Given the description of an element on the screen output the (x, y) to click on. 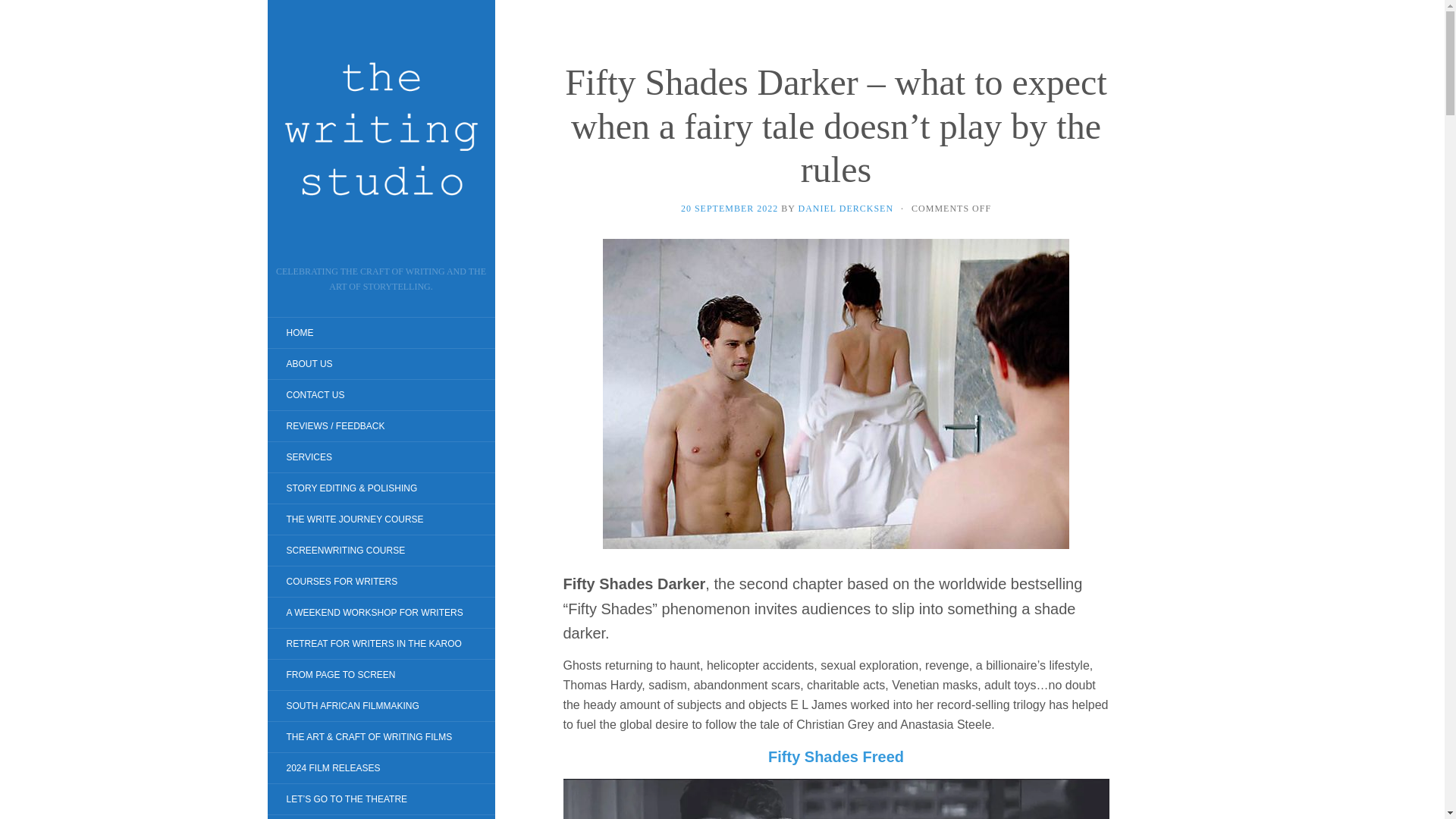
SCREENWRITING COURSE (344, 550)
THE WRITE JOURNEY COURSE (354, 519)
Search (22, 11)
DANIEL DERCKSEN (845, 208)
SOUTH AFRICAN FILMMAKING (352, 705)
COURSES FOR WRITERS (341, 581)
ABOUT US (308, 363)
RETREAT FOR WRITERS IN THE KAROO (373, 643)
SERVICES (308, 457)
FROM PAGE TO SCREEN (339, 674)
